Given the description of an element on the screen output the (x, y) to click on. 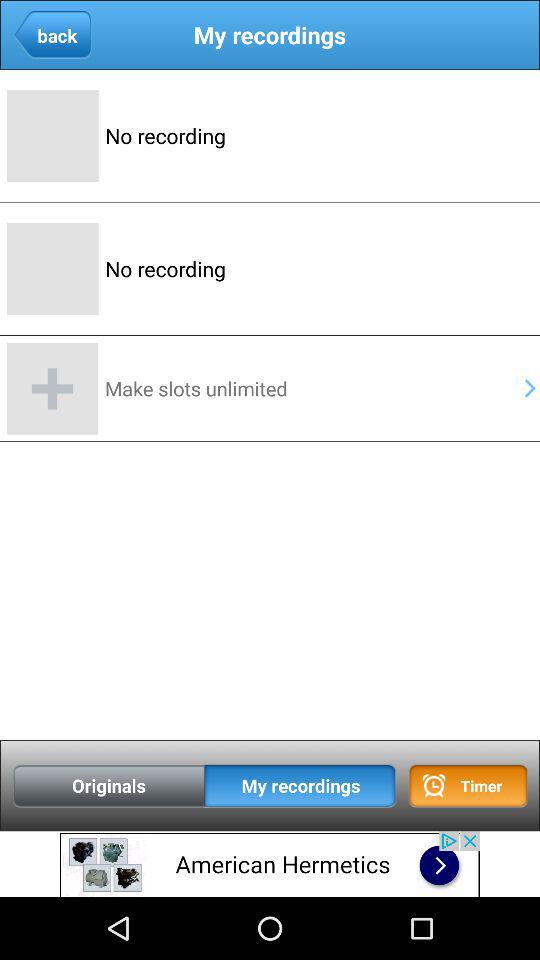
american hermetics add (270, 864)
